Given the description of an element on the screen output the (x, y) to click on. 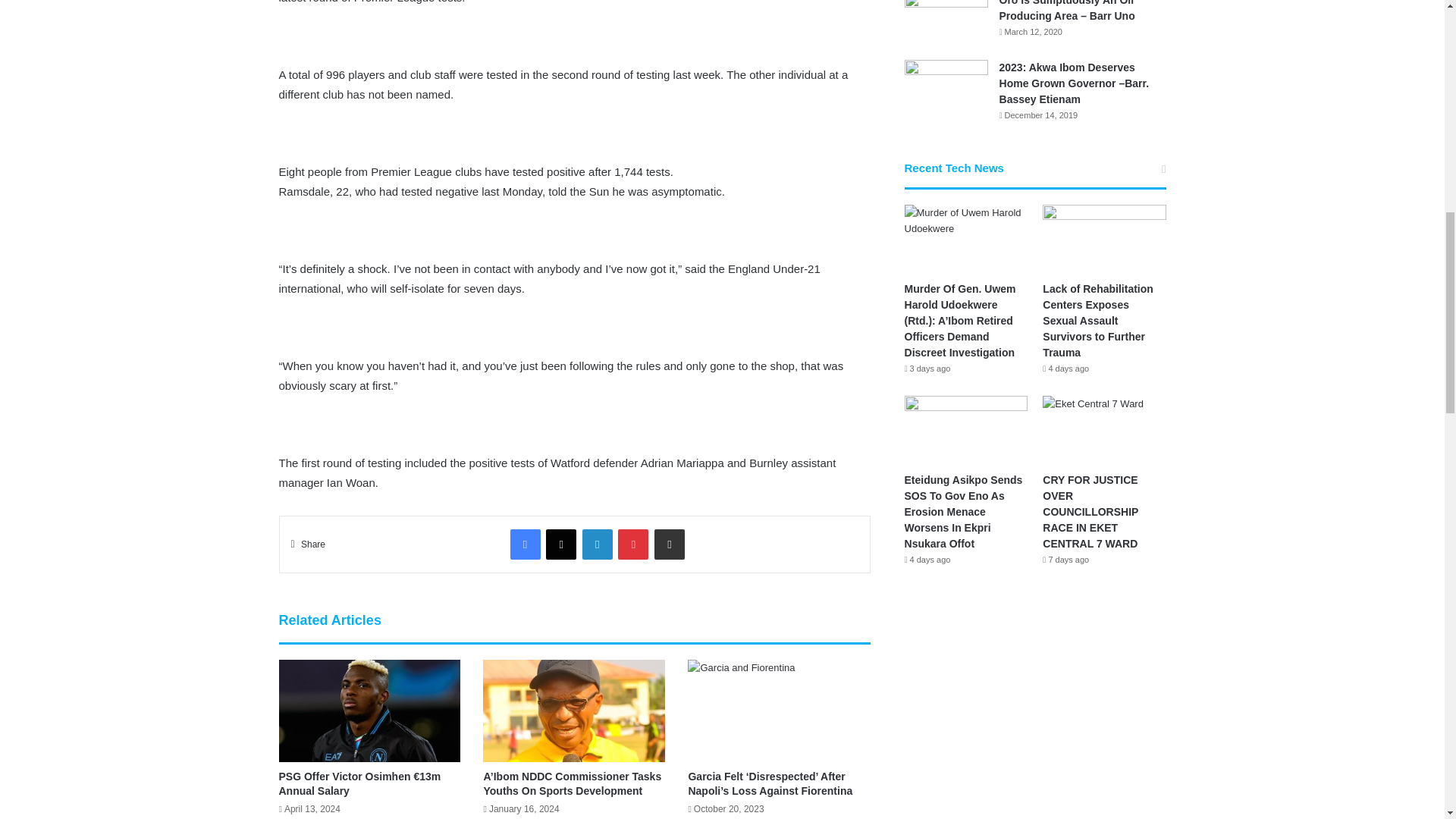
LinkedIn (597, 544)
Facebook (524, 544)
X (561, 544)
Pinterest (632, 544)
LinkedIn (597, 544)
Facebook (524, 544)
Share via Email (668, 544)
X (561, 544)
Pinterest (632, 544)
Share via Email (668, 544)
